Given the description of an element on the screen output the (x, y) to click on. 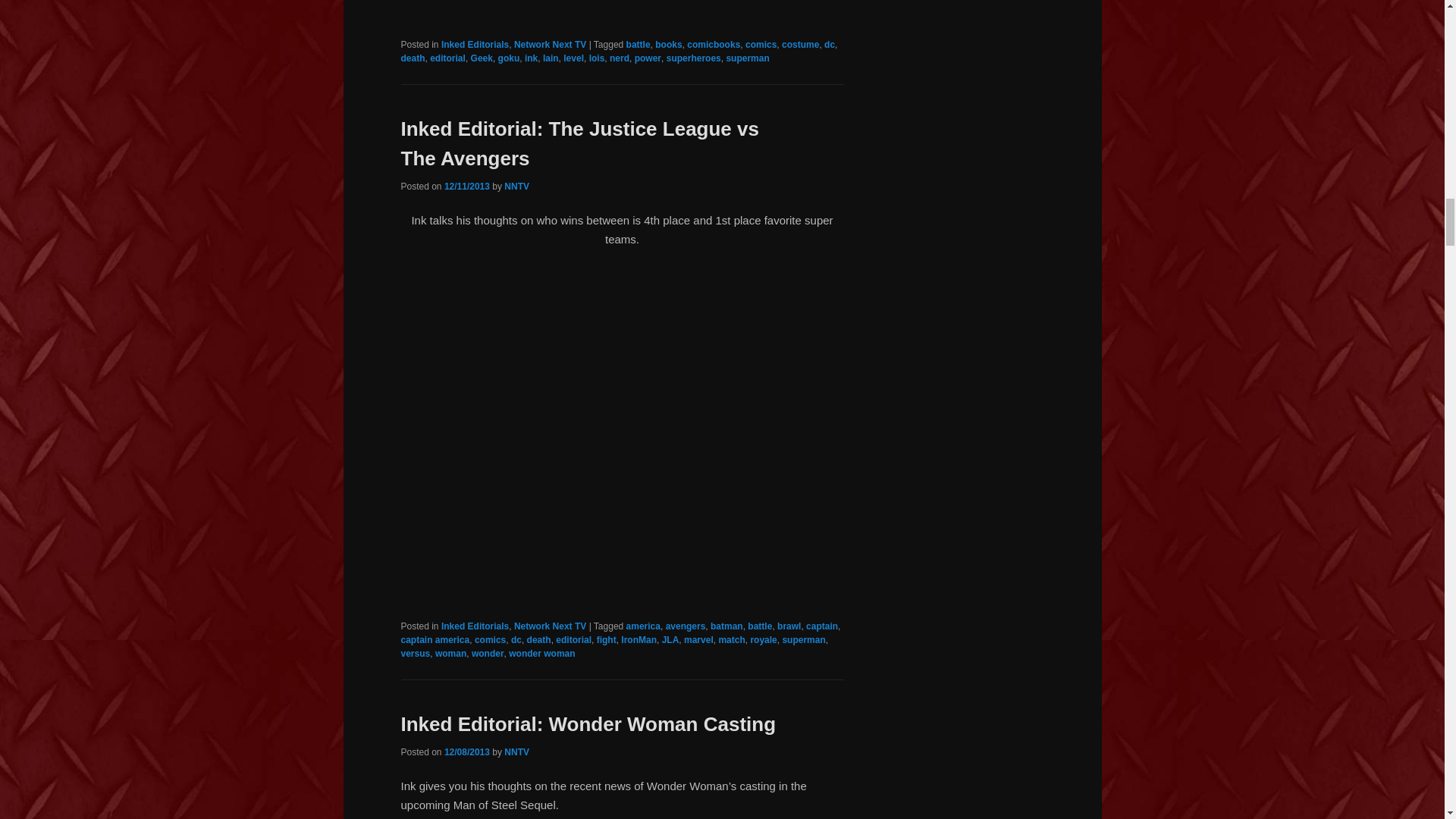
View all posts by NNTV (516, 185)
12:01 (466, 185)
View all posts by NNTV (516, 751)
10:46 (466, 751)
